Given the description of an element on the screen output the (x, y) to click on. 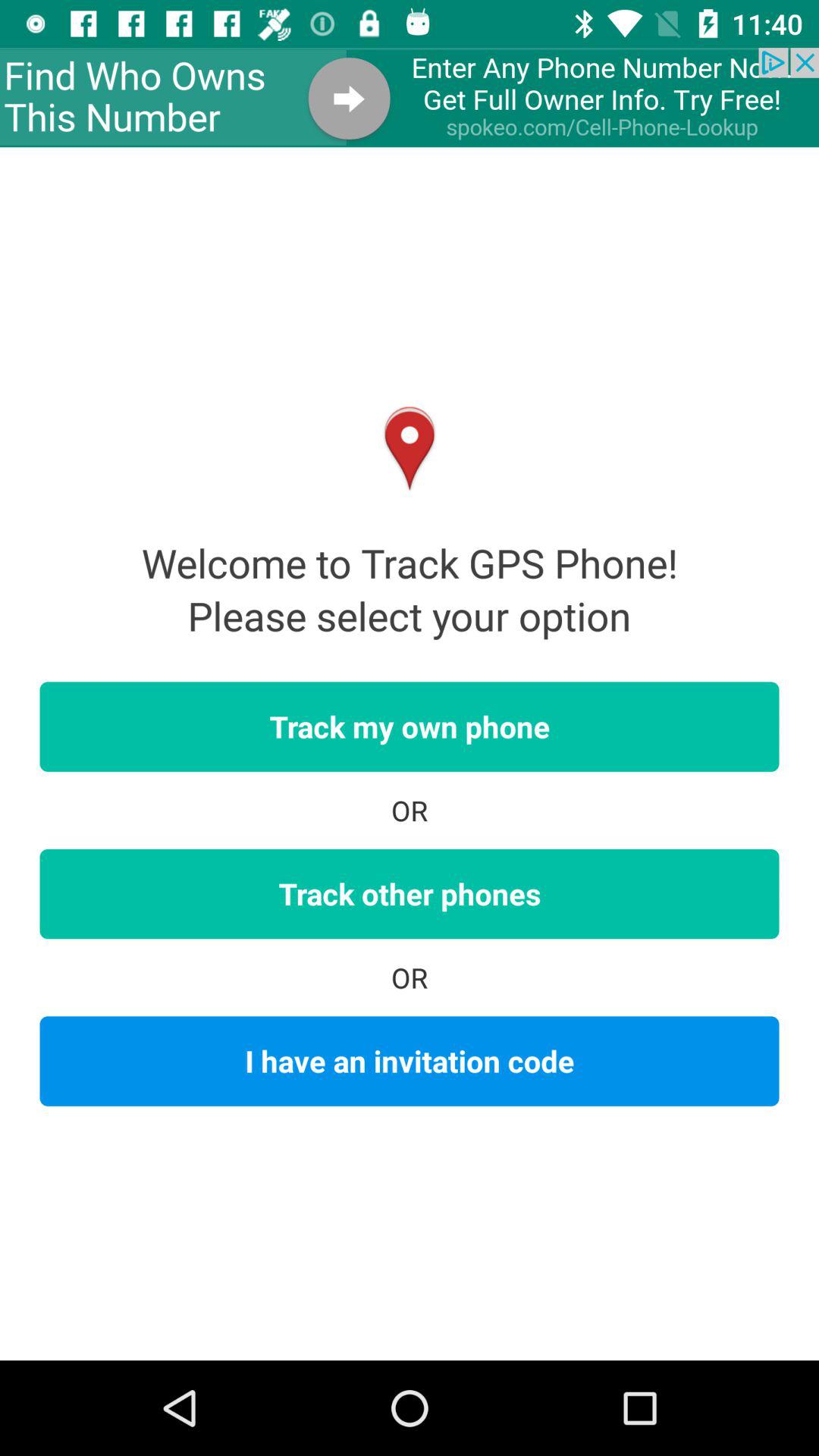
advertisement link (409, 97)
